Given the description of an element on the screen output the (x, y) to click on. 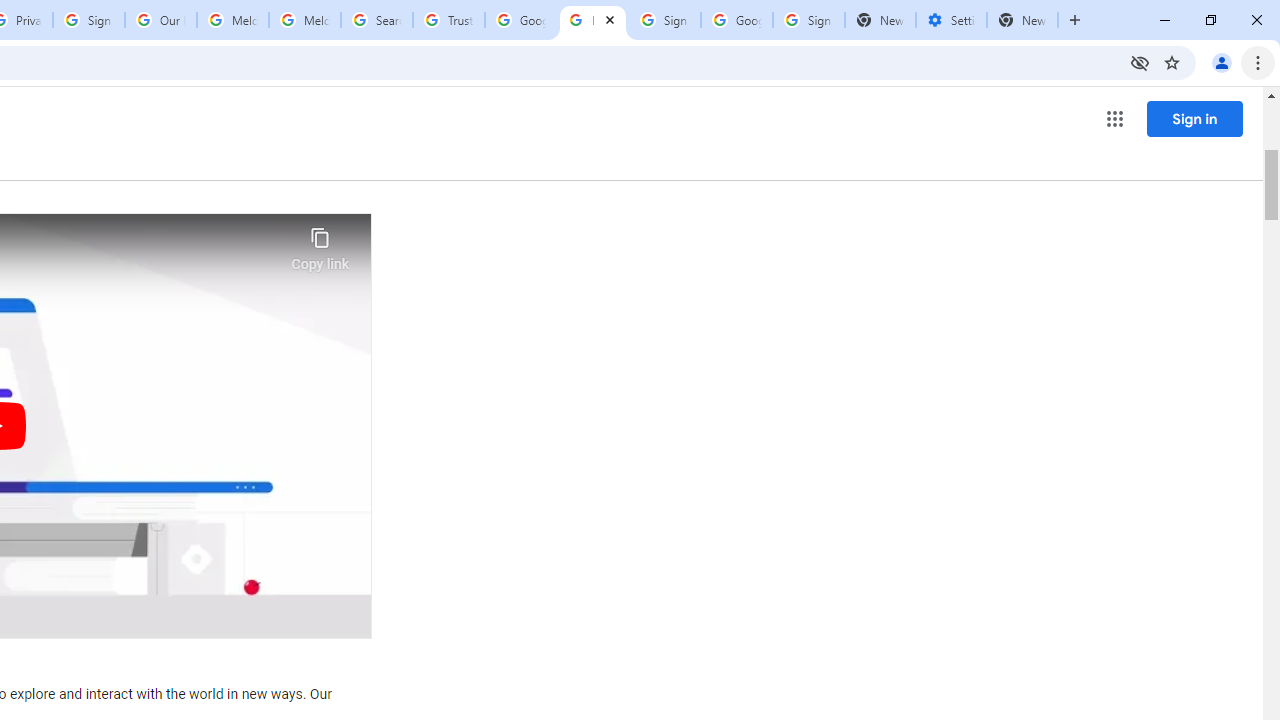
New Tab (1022, 20)
Sign in - Google Accounts (664, 20)
Sign in - Google Accounts (88, 20)
Search our Doodle Library Collection - Google Doodles (376, 20)
